Given the description of an element on the screen output the (x, y) to click on. 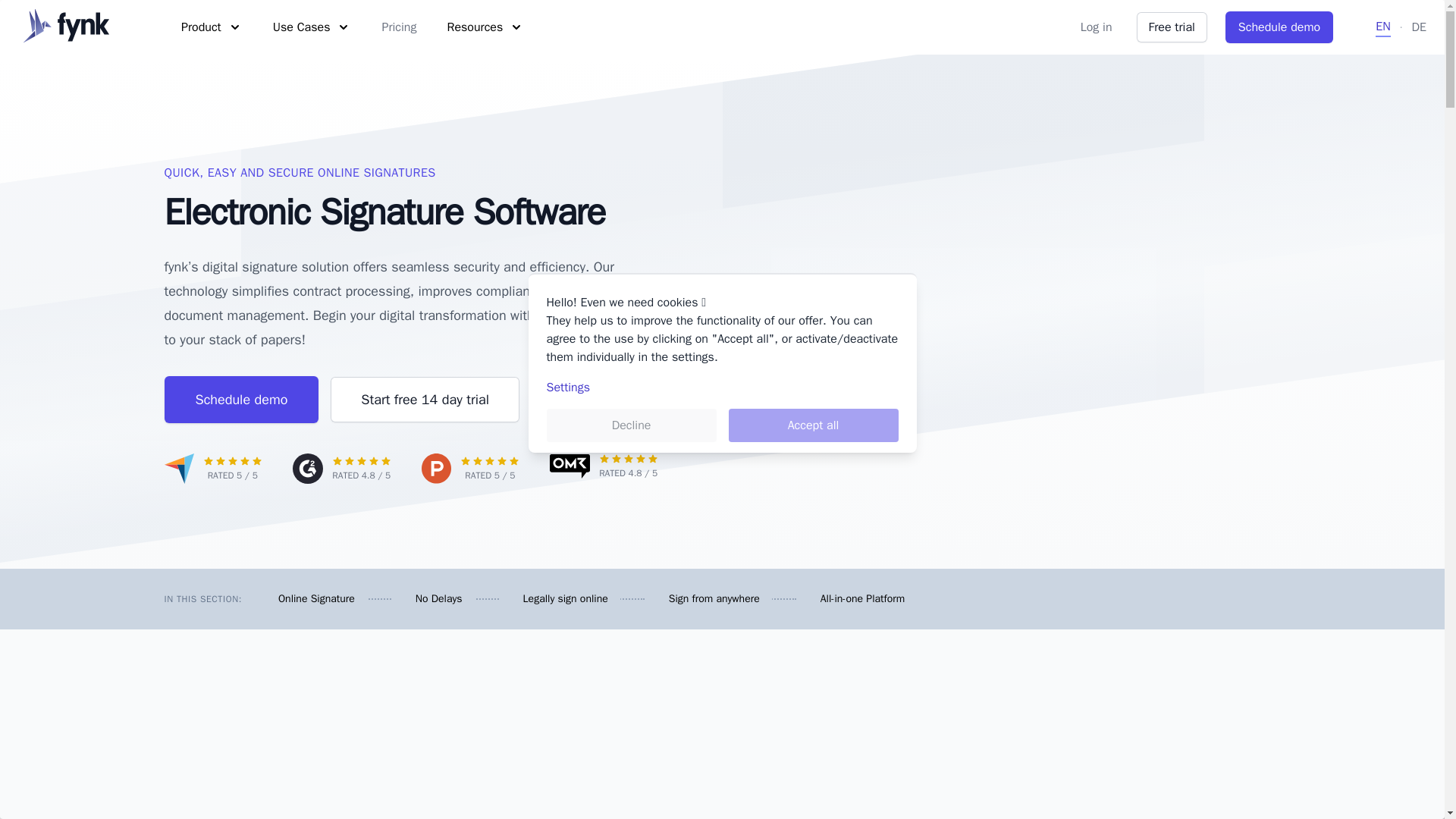
Log in (1096, 27)
Product (211, 27)
fynk reviews on Product Hunt (470, 468)
Free trial (1172, 27)
fynk (66, 26)
fynk reviews on G2 (341, 468)
Schedule demo (1279, 27)
Use Cases (312, 27)
Pricing (398, 27)
fynk reviews on Capterra (212, 468)
